Given the description of an element on the screen output the (x, y) to click on. 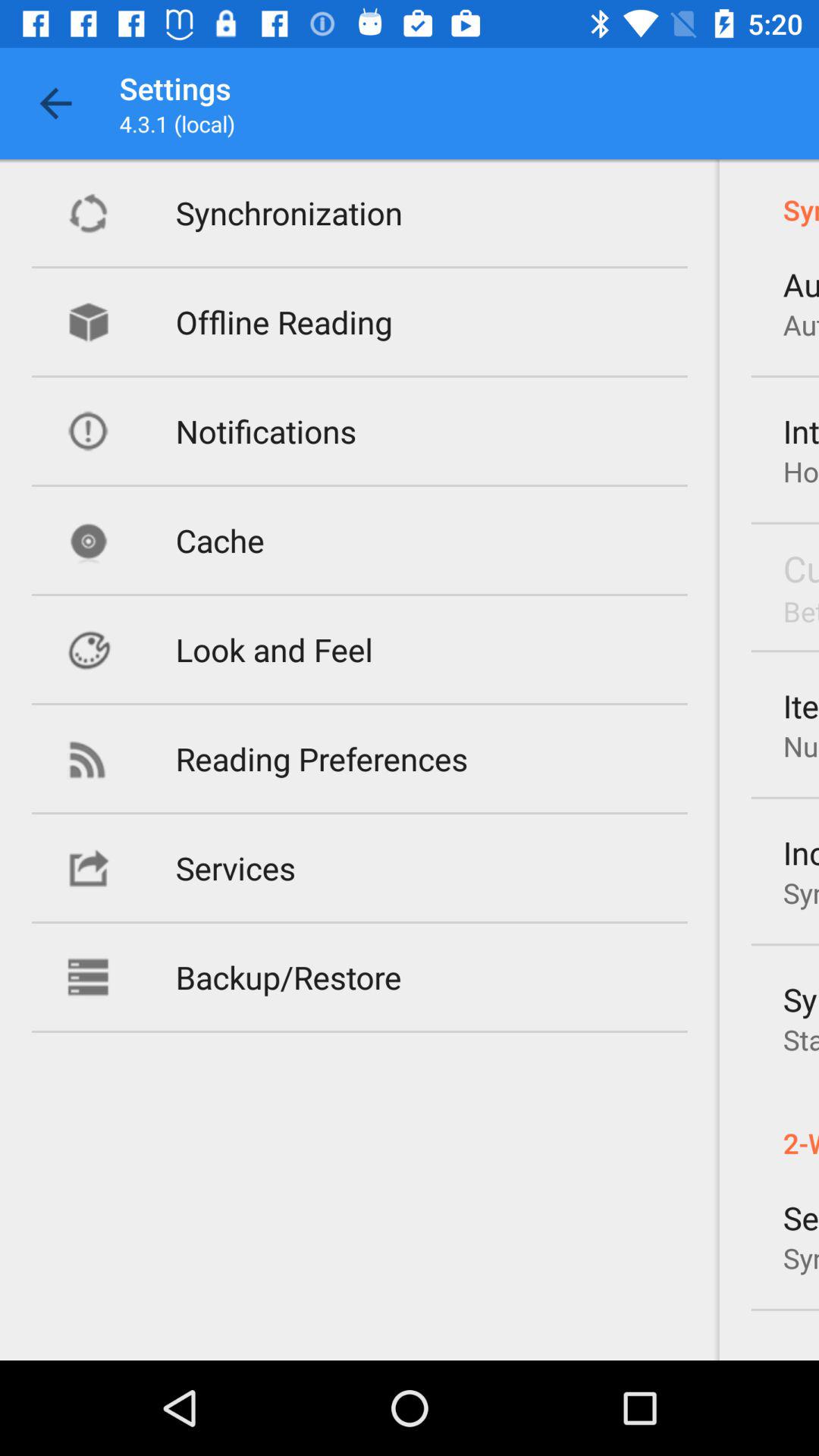
tap item to the right of the backup/restore (801, 998)
